Given the description of an element on the screen output the (x, y) to click on. 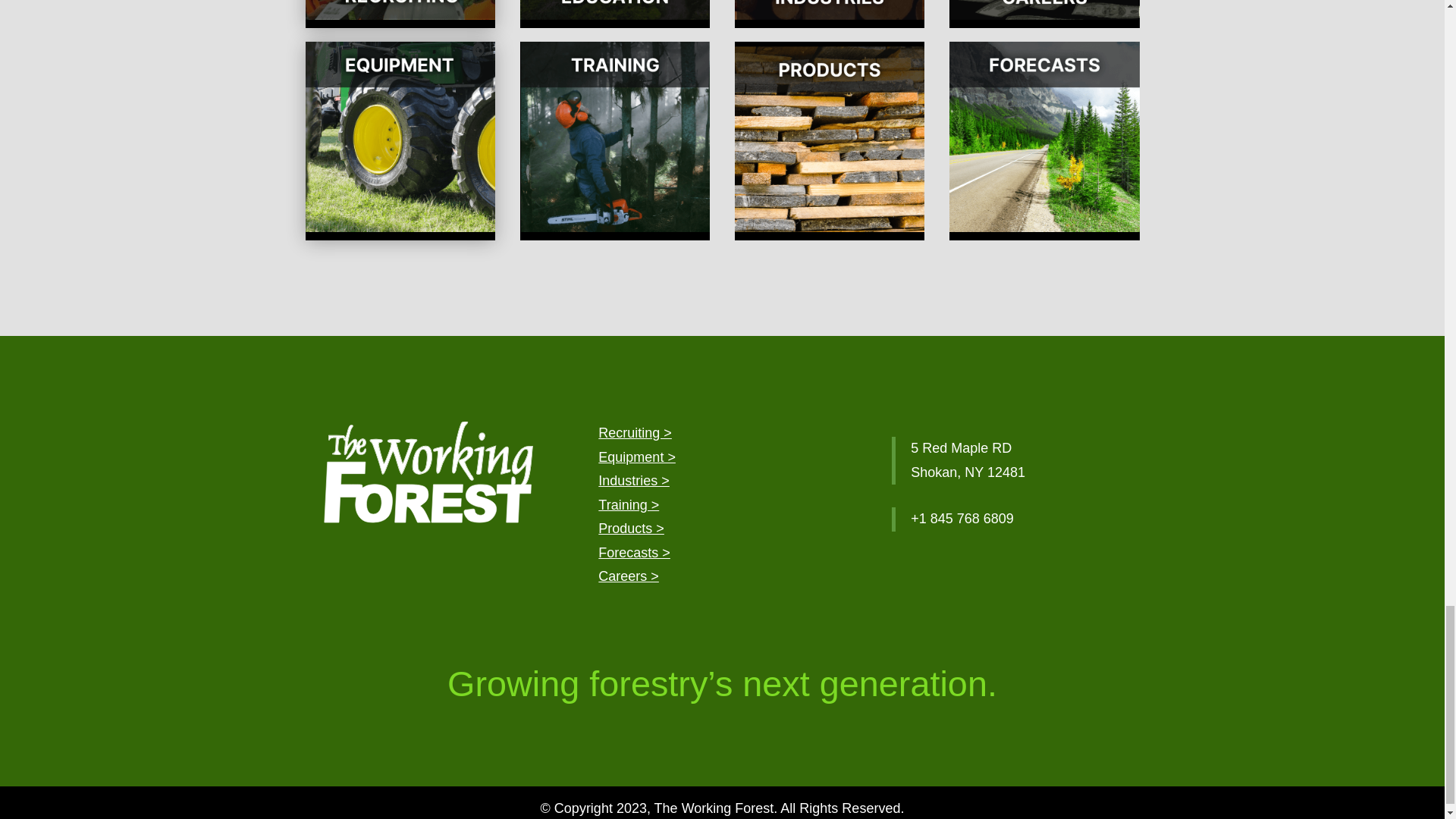
Career Information (628, 575)
Forcasts (633, 552)
Equipment Information (636, 457)
Recruiting Information (634, 432)
Industries (633, 480)
Products (630, 528)
Training Information (628, 504)
